Given the description of an element on the screen output the (x, y) to click on. 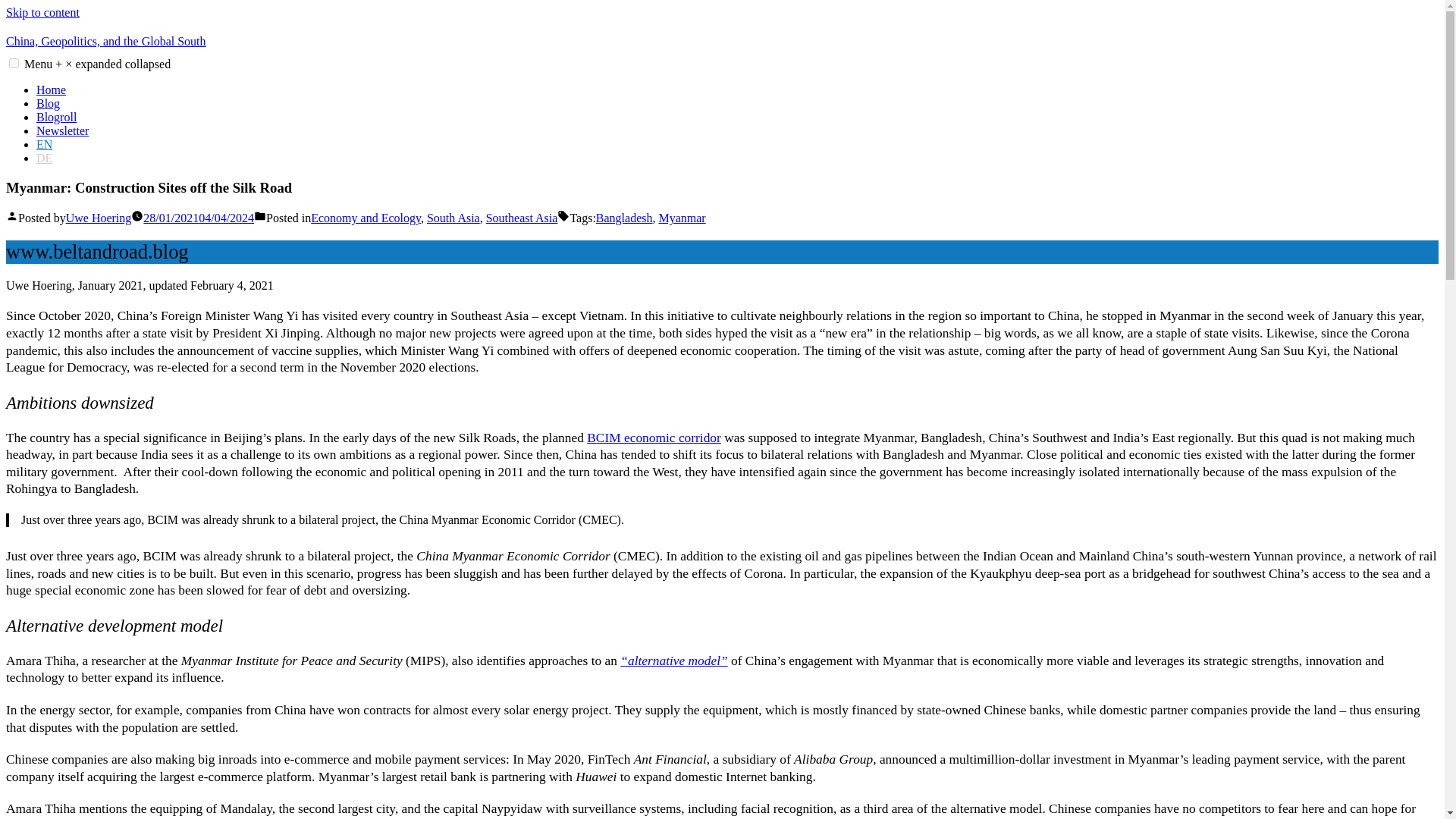
Southeast Asia (521, 217)
South Asia (453, 217)
DE (44, 157)
on (13, 62)
BCIM economic corridor (653, 437)
Skip to content (42, 11)
China, Geopolitics, and the Global South (105, 41)
Blog (47, 103)
Bangladesh (623, 217)
Home (50, 89)
Uwe Hoering (98, 217)
Newsletter (62, 130)
EN (44, 144)
Economy and Ecology (365, 217)
Myanmar (681, 217)
